Given the description of an element on the screen output the (x, y) to click on. 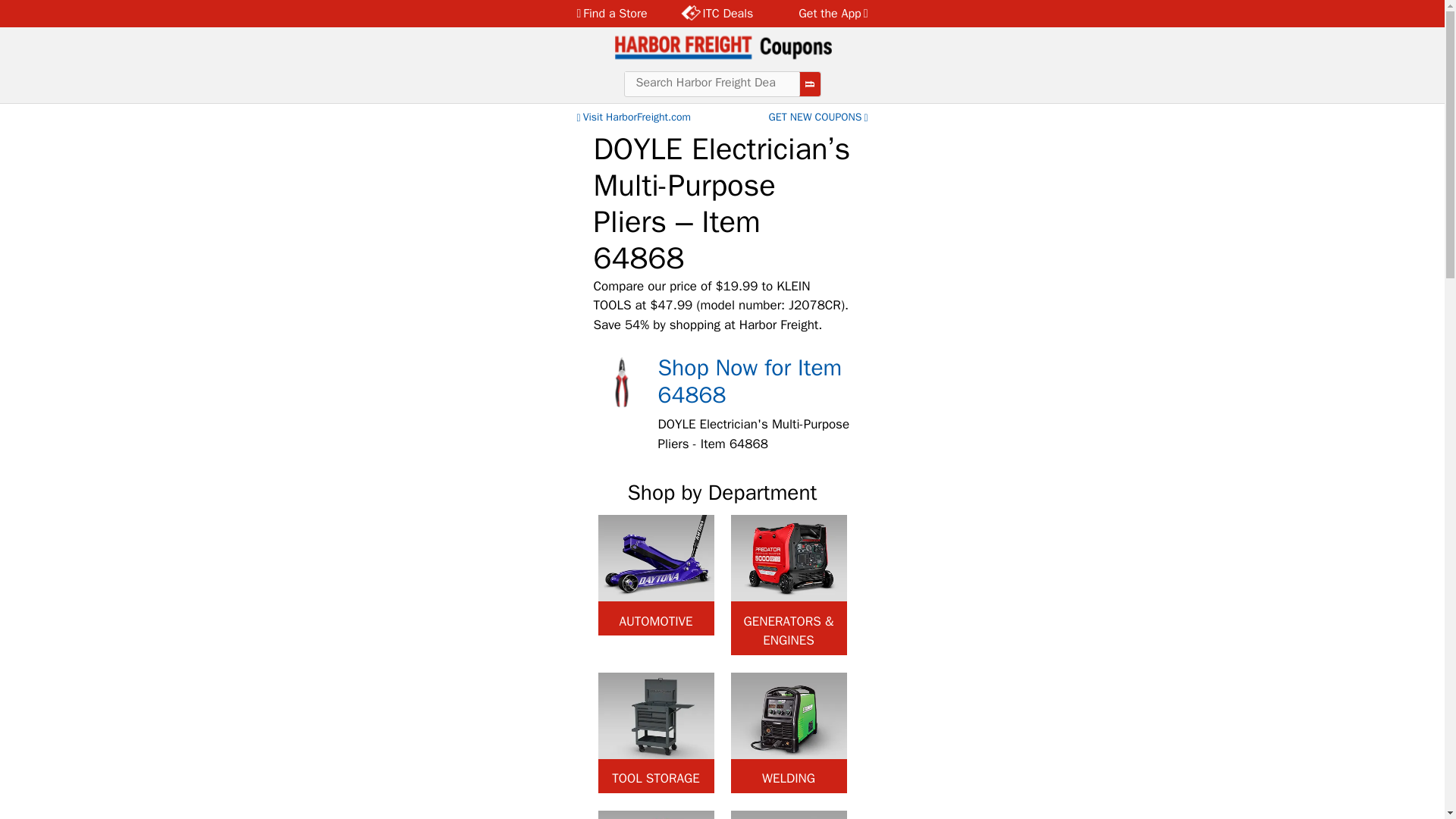
Download the Harbor Freight App (823, 13)
Inside Track Club Member Deals (717, 13)
COMPRESSORS (788, 814)
ITC Deals (717, 13)
TOOL STORAGE (654, 732)
AUTOMOTIVE (654, 575)
WELDING (788, 732)
GET NEW COUPONS (819, 116)
Find a Harbor Freight Store (615, 13)
Find a Store (615, 13)
